Given the description of an element on the screen output the (x, y) to click on. 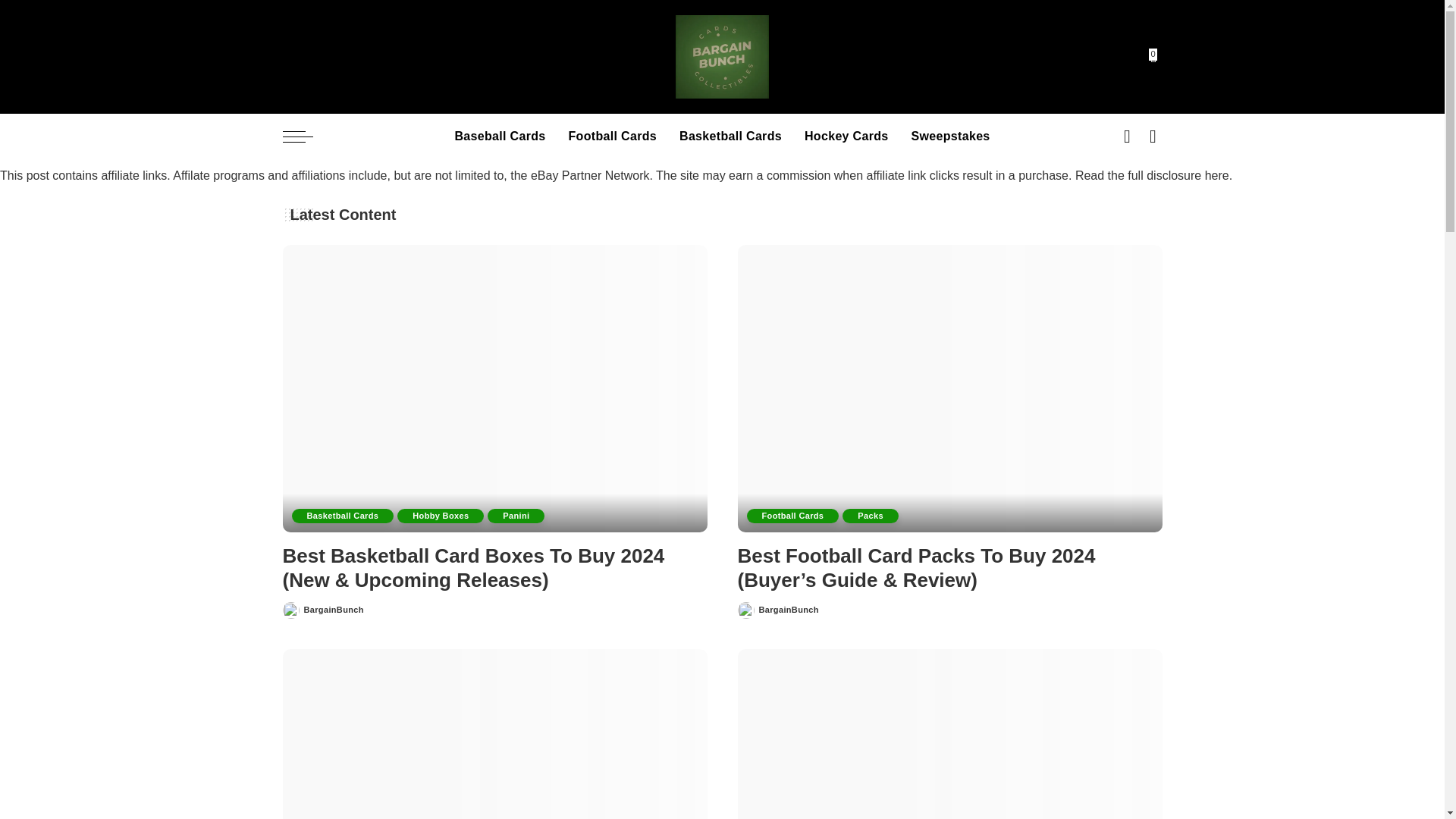
Search (1140, 179)
Hockey Cards (846, 135)
Sweepstakes (950, 135)
Football Cards (612, 135)
Basketball Cards (730, 135)
Baseball Cards (499, 135)
BargainBunch (721, 56)
